Given the description of an element on the screen output the (x, y) to click on. 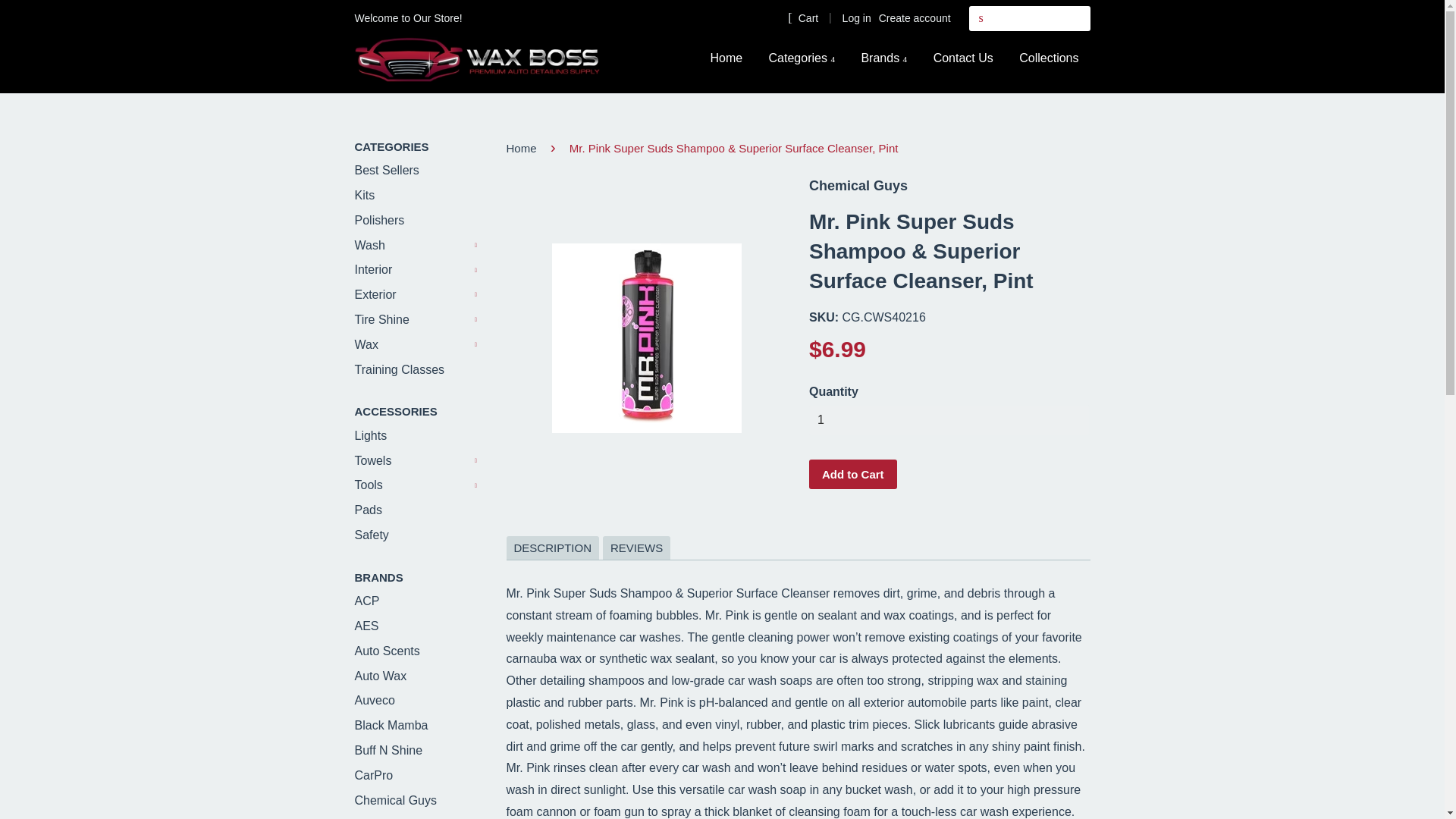
1 (949, 419)
Back to the frontpage (523, 147)
Search (980, 18)
Cart (802, 17)
Log in (856, 18)
Create account (914, 18)
